Given the description of an element on the screen output the (x, y) to click on. 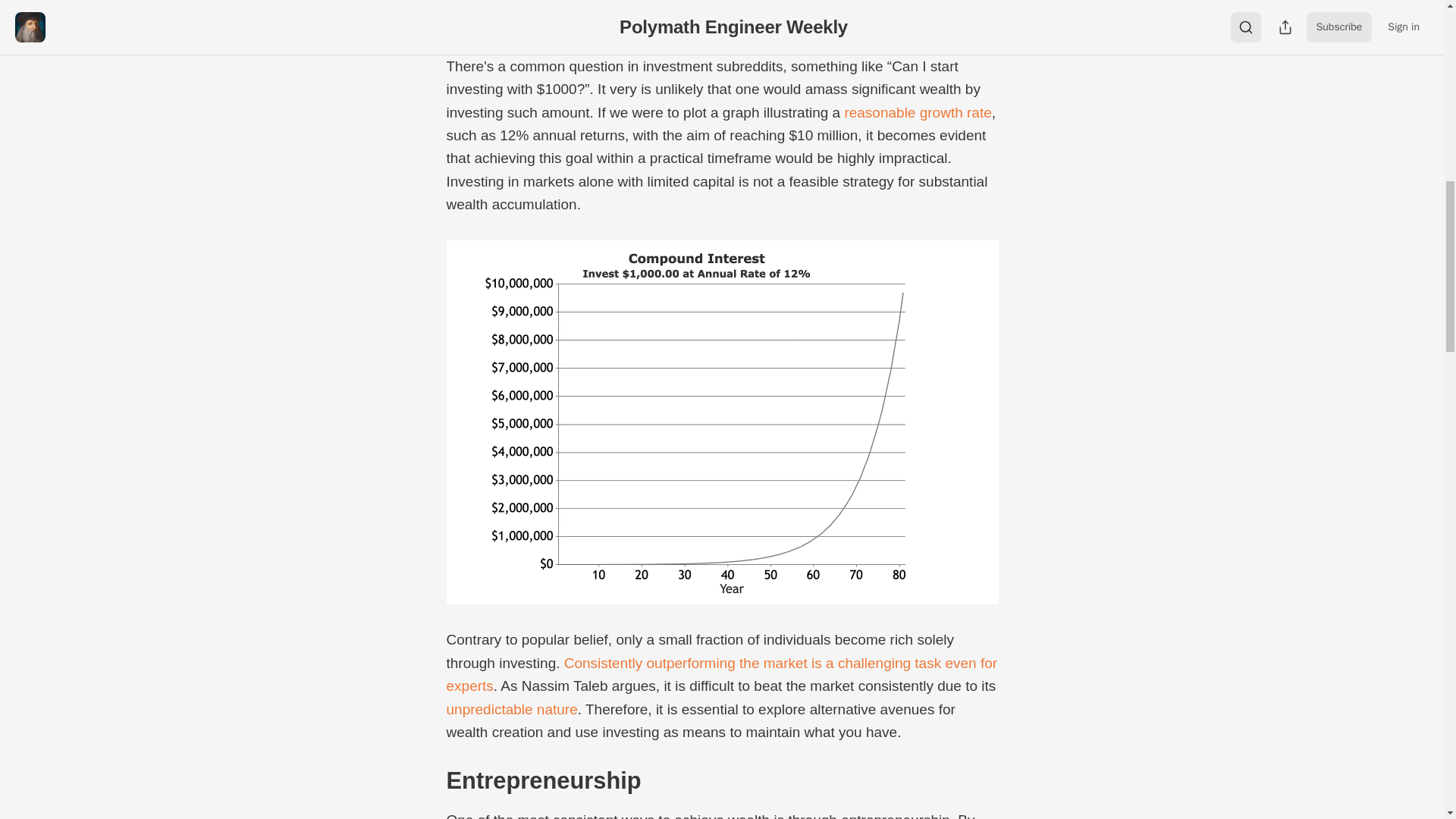
unpredictable nature (510, 709)
reasonable growth rate (917, 112)
